Given the description of an element on the screen output the (x, y) to click on. 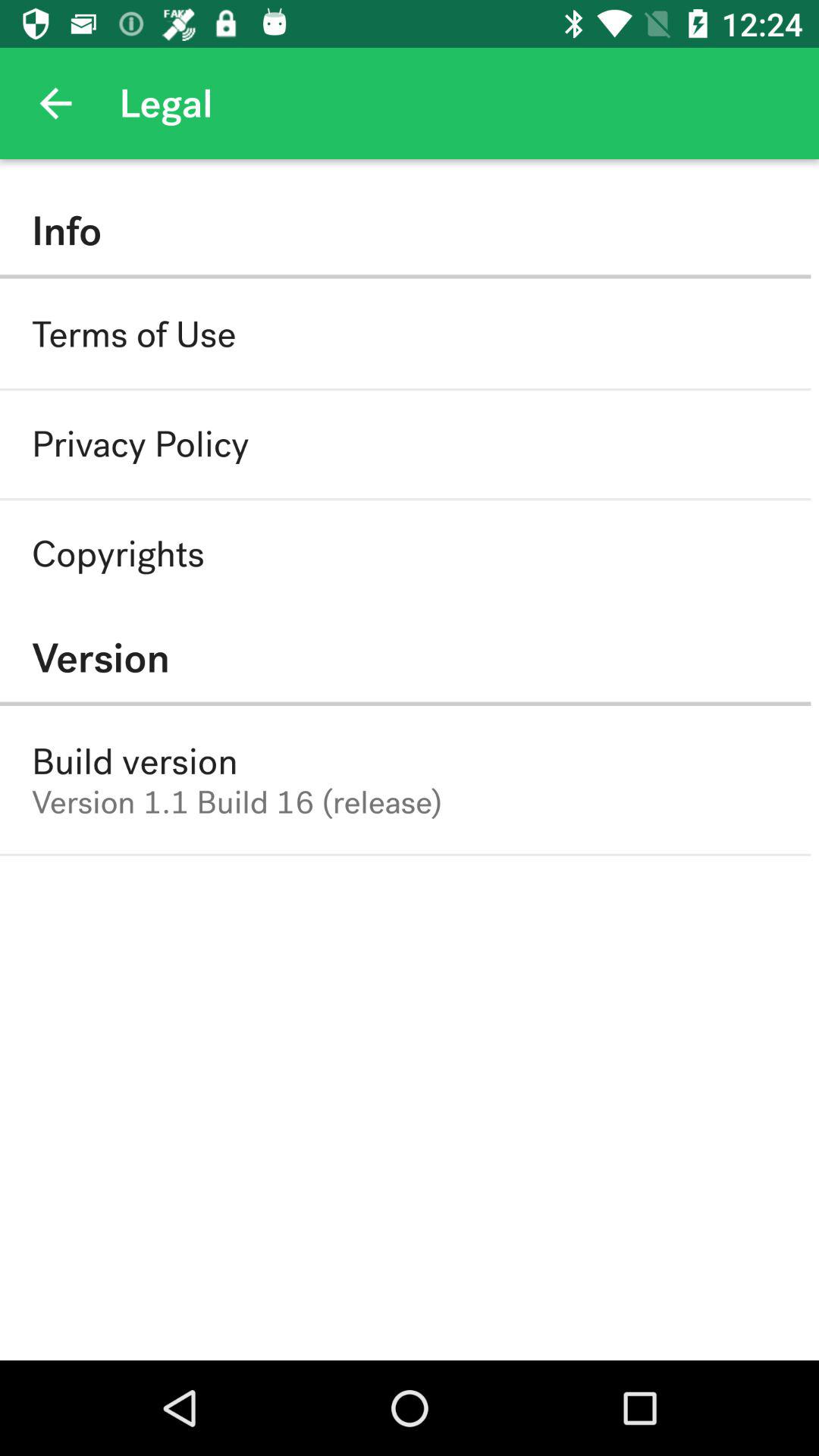
turn on the item below the privacy policy icon (117, 554)
